Given the description of an element on the screen output the (x, y) to click on. 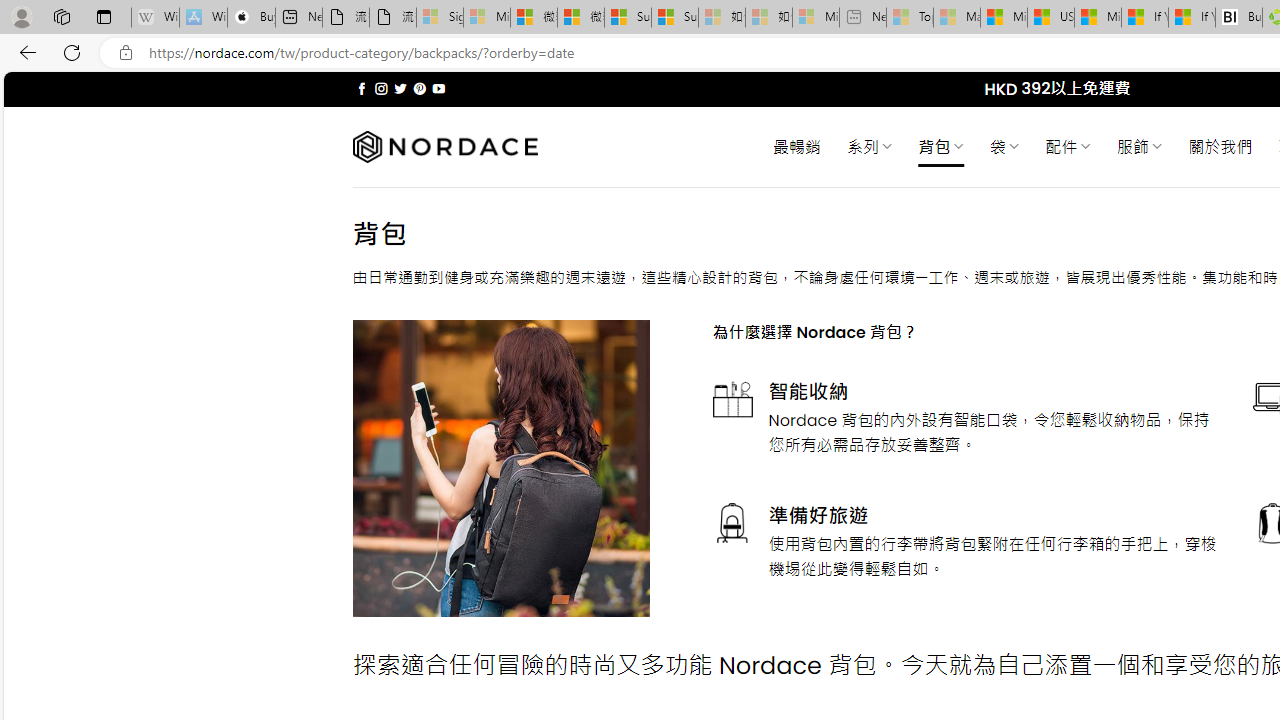
Follow on Twitter (400, 88)
Follow on Instagram (381, 88)
